Given the description of an element on the screen output the (x, y) to click on. 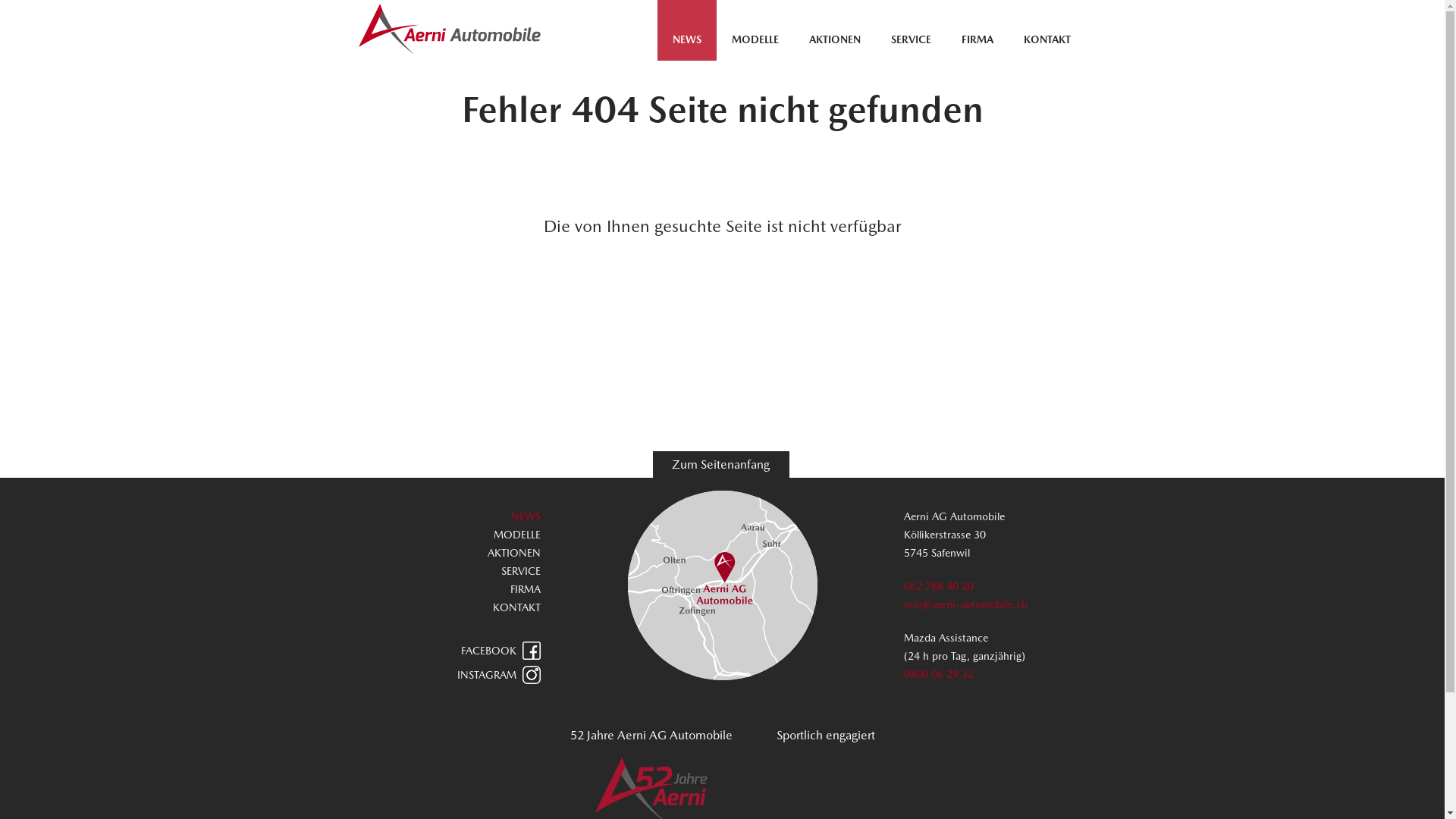
MODELLE Element type: text (516, 534)
KONTAKT Element type: text (1046, 39)
KONTAKT Element type: text (516, 607)
SERVICE Element type: text (910, 39)
SERVICE Element type: text (520, 570)
NEWS Element type: text (686, 39)
info@aerni-automobile.ch Element type: text (965, 604)
FIRMA Element type: text (977, 39)
INSTAGRAM Element type: text (449, 674)
FACEBOOK Element type: text (449, 650)
Zum Seitenanfang Element type: text (720, 464)
AKTIONEN Element type: text (834, 39)
0800 06 29 32 Element type: text (938, 674)
MODELLE Element type: text (754, 39)
FIRMA Element type: text (525, 589)
AKTIONEN Element type: text (513, 552)
062 788 40 20 Element type: text (938, 586)
NEWS Element type: text (525, 516)
